Given the description of an element on the screen output the (x, y) to click on. 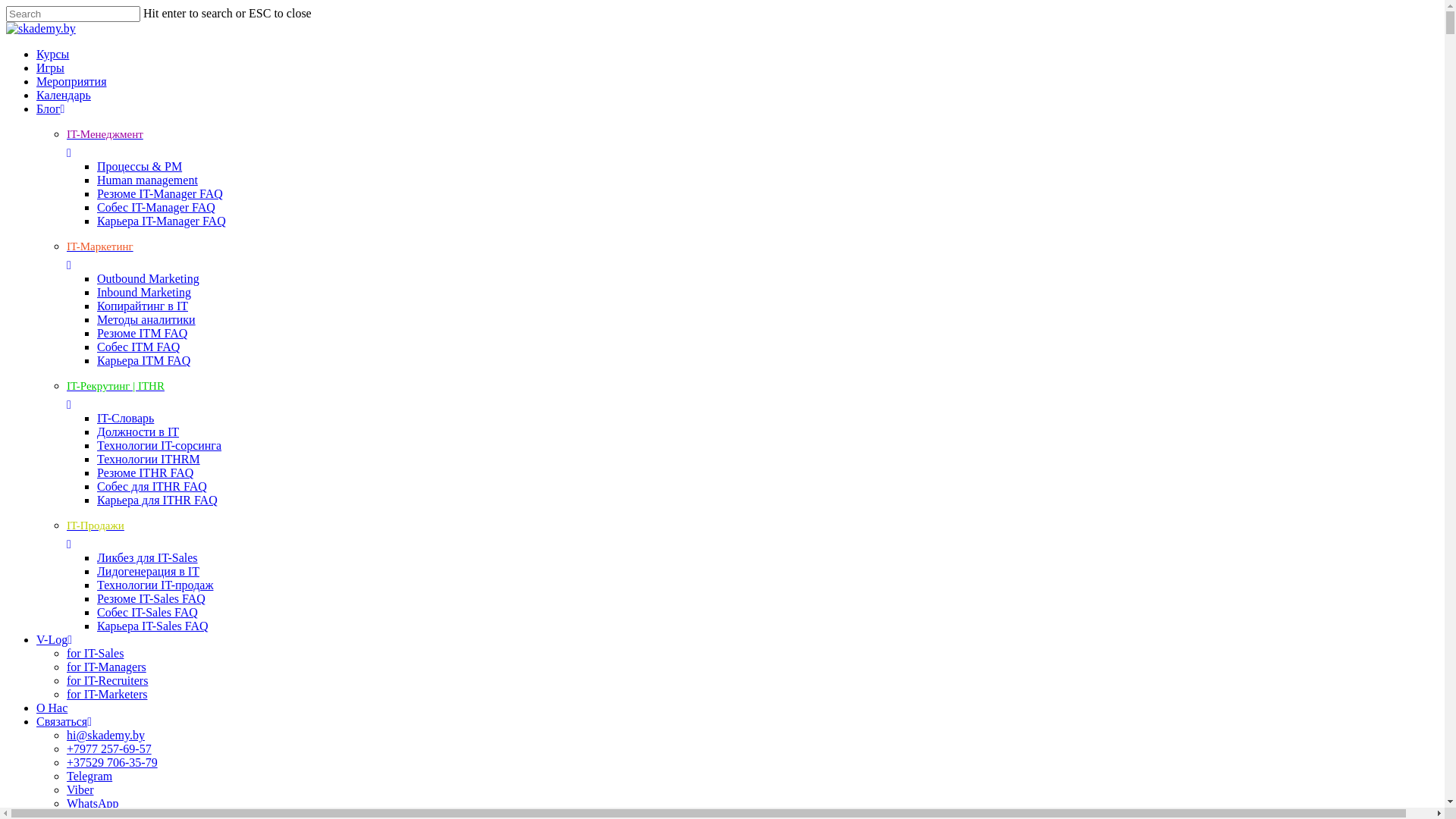
WhatsApp Element type: text (92, 803)
Human management Element type: text (147, 179)
Viber Element type: text (79, 789)
Inbound Marketing Element type: text (144, 291)
for IT-Marketers Element type: text (106, 693)
+37529 706-35-79 Element type: text (111, 762)
for IT-Managers Element type: text (106, 666)
hi@skademy.by Element type: text (105, 734)
Outbound Marketing Element type: text (148, 278)
Telegram Element type: text (89, 775)
for IT-Sales Element type: text (94, 652)
for IT-Recruiters Element type: text (106, 680)
V-Log Element type: text (737, 639)
+7977 257-69-57 Element type: text (108, 748)
